Given the description of an element on the screen output the (x, y) to click on. 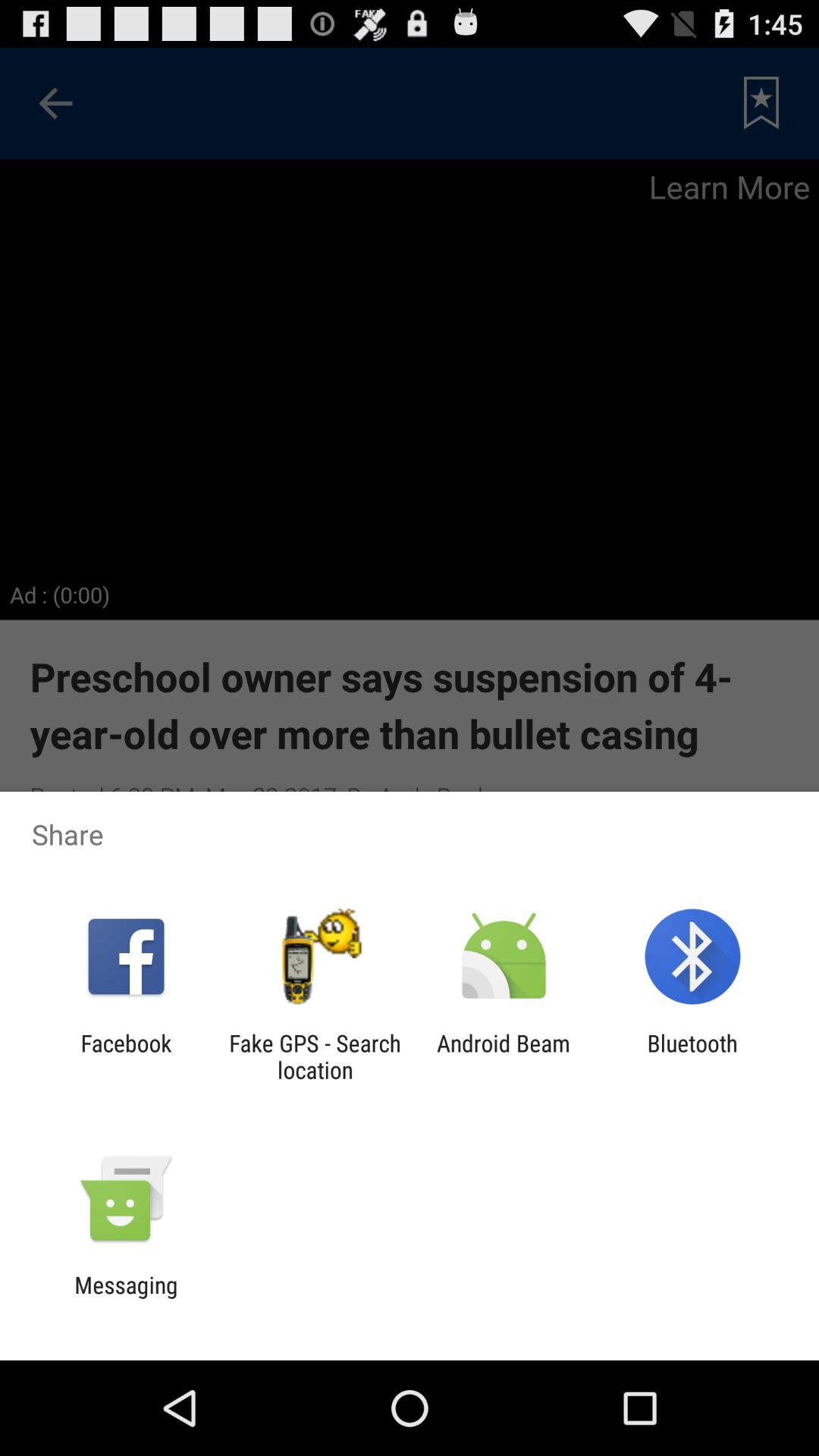
turn on icon to the left of the fake gps search (125, 1056)
